Given the description of an element on the screen output the (x, y) to click on. 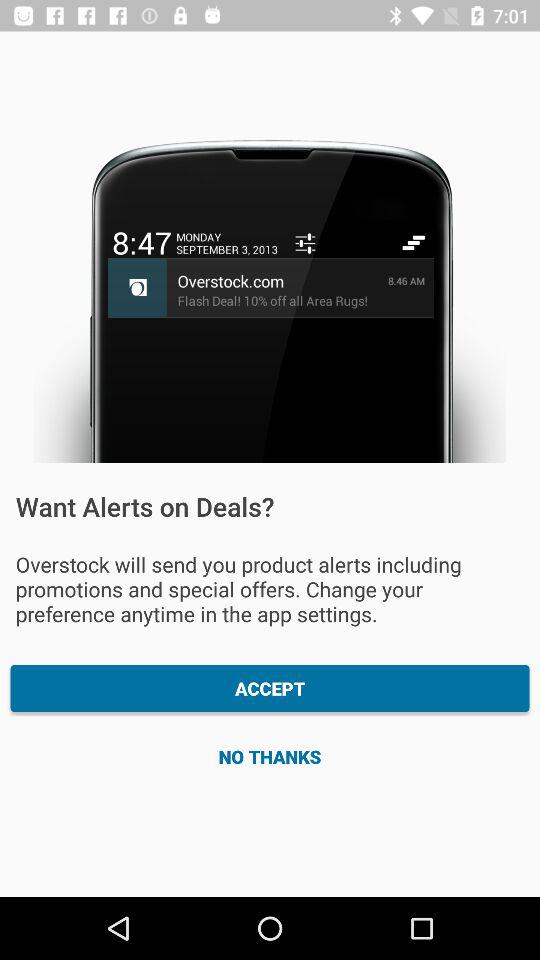
tap the accept item (269, 688)
